Given the description of an element on the screen output the (x, y) to click on. 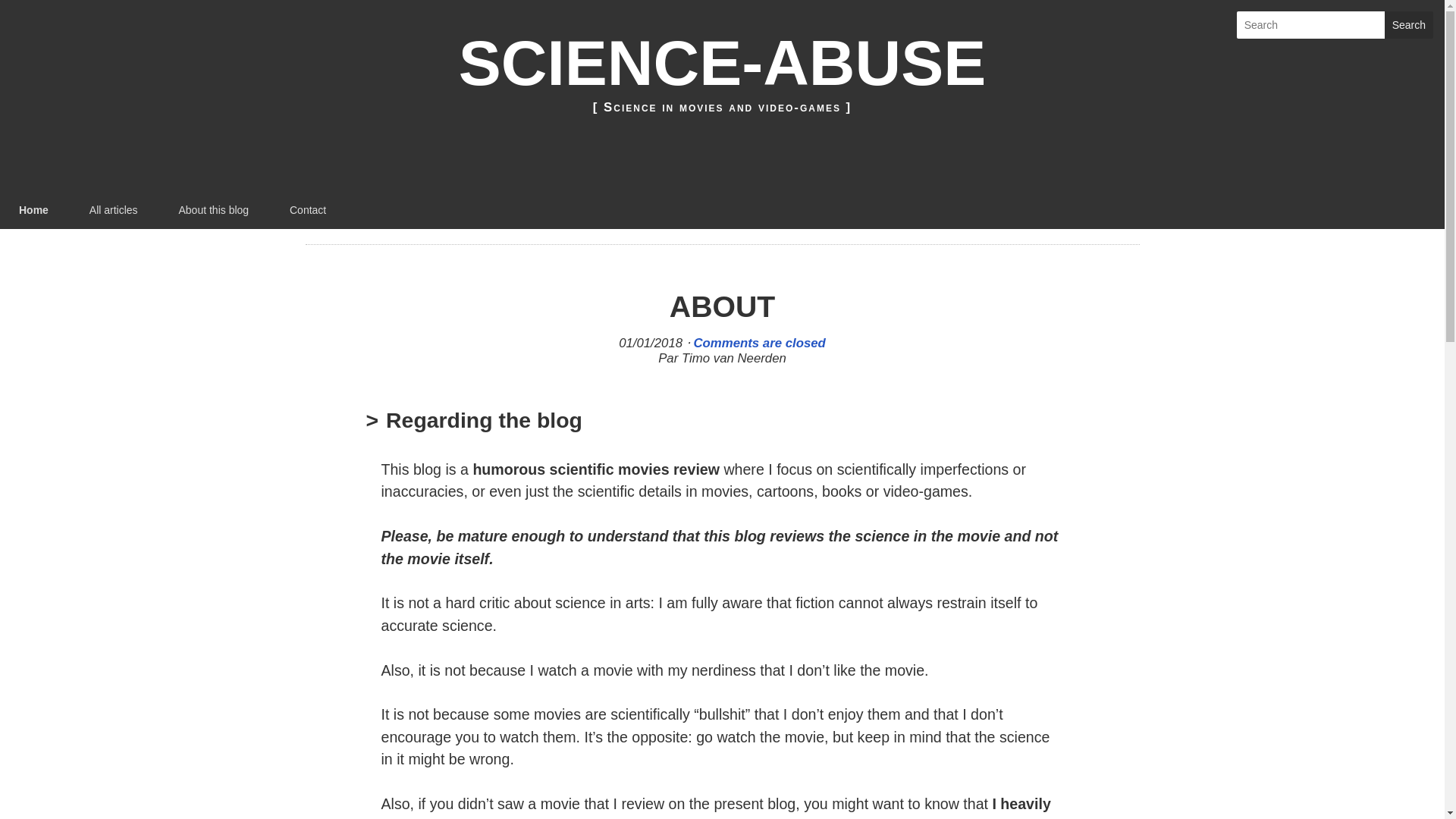
ABOUT (721, 306)
Comments are closed (759, 342)
SCIENCE-ABUSE (721, 62)
Contact (307, 209)
Search (1408, 24)
All articles (113, 209)
Home (34, 209)
Science-abuse - Science in movies and video-games (721, 62)
About this blog (213, 209)
